Given the description of an element on the screen output the (x, y) to click on. 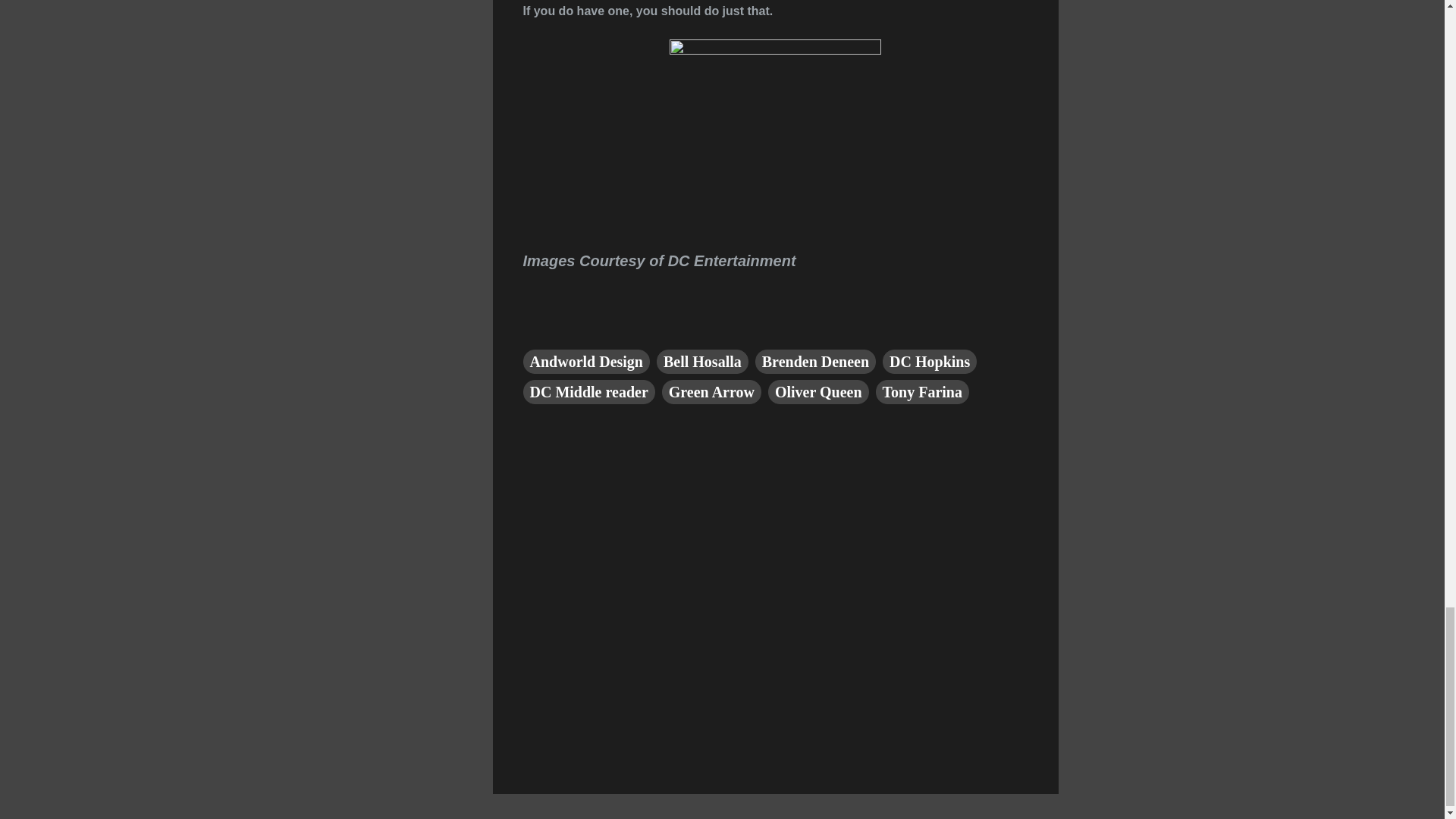
Tony Farina (922, 392)
Andworld Design (585, 361)
Brenden Deneen (815, 361)
Bell Hosalla (702, 361)
Oliver Queen (818, 392)
DC Middle reader (588, 392)
Green Arrow (711, 392)
DC Hopkins (929, 361)
